Given the description of an element on the screen output the (x, y) to click on. 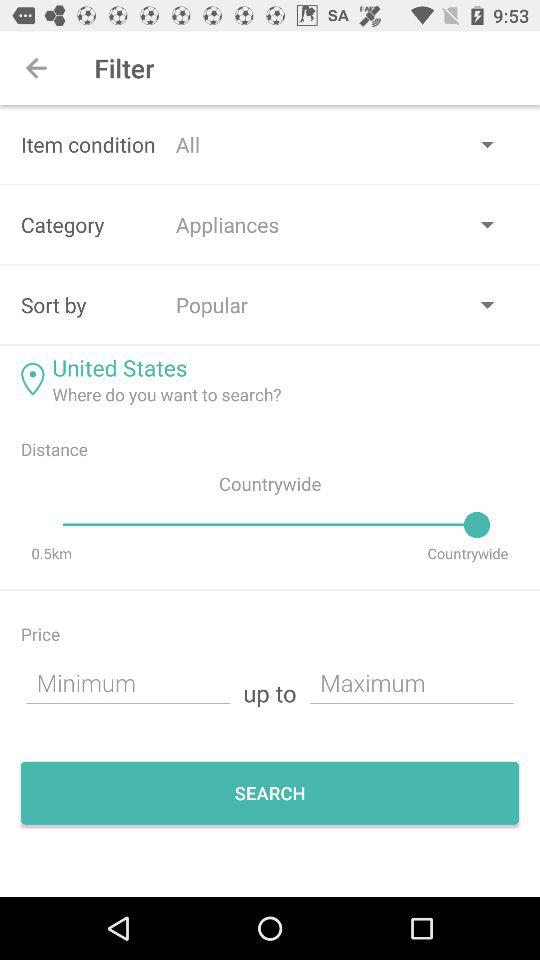
minimum of the option (128, 682)
